Given the description of an element on the screen output the (x, y) to click on. 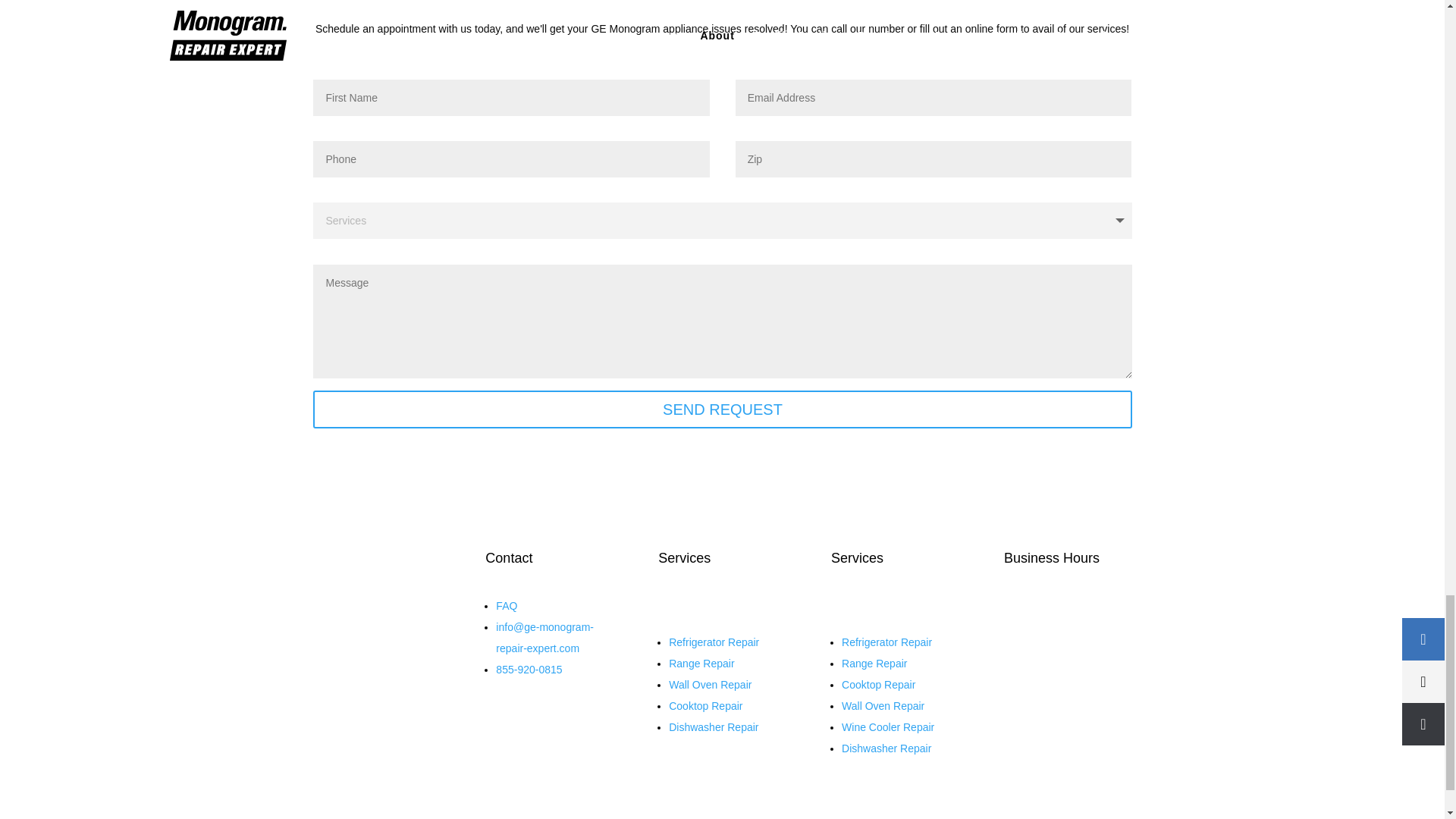
Dishwasher Repair (713, 727)
Range Repair (874, 663)
Refrigerator Repair (713, 642)
Only numbers allowed. (933, 158)
Wall Oven Repair (709, 684)
855-920-0815 (529, 669)
Wine Cooler Repair (887, 727)
Refrigerator Repair (886, 642)
Dishwasher Repair (886, 748)
Cooktop Repair (705, 705)
